Given the description of an element on the screen output the (x, y) to click on. 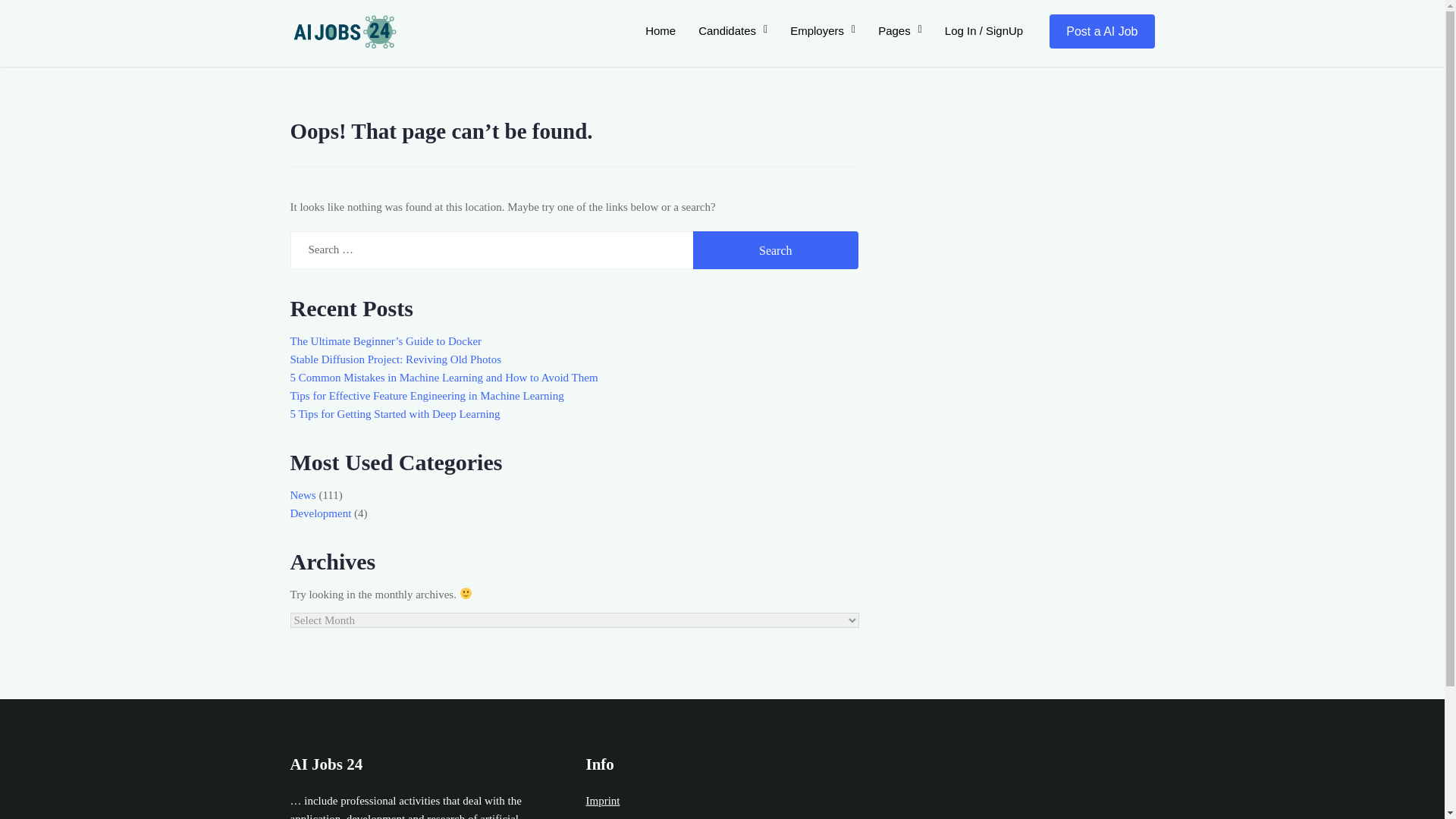
Search (776, 249)
Development (319, 512)
Search (776, 249)
Home (660, 30)
Search (776, 249)
Imprint (602, 800)
Tips for Effective Feature Engineering in Machine Learning (426, 395)
Stable Diffusion Project: Reviving Old Photos (394, 358)
Pages (899, 30)
5 Tips for Getting Started with Deep Learning (394, 413)
Pages (899, 30)
Post a AI Job (1101, 31)
5 Common Mistakes in Machine Learning and How to Avoid Them (442, 377)
News (302, 494)
Home (660, 30)
